Given the description of an element on the screen output the (x, y) to click on. 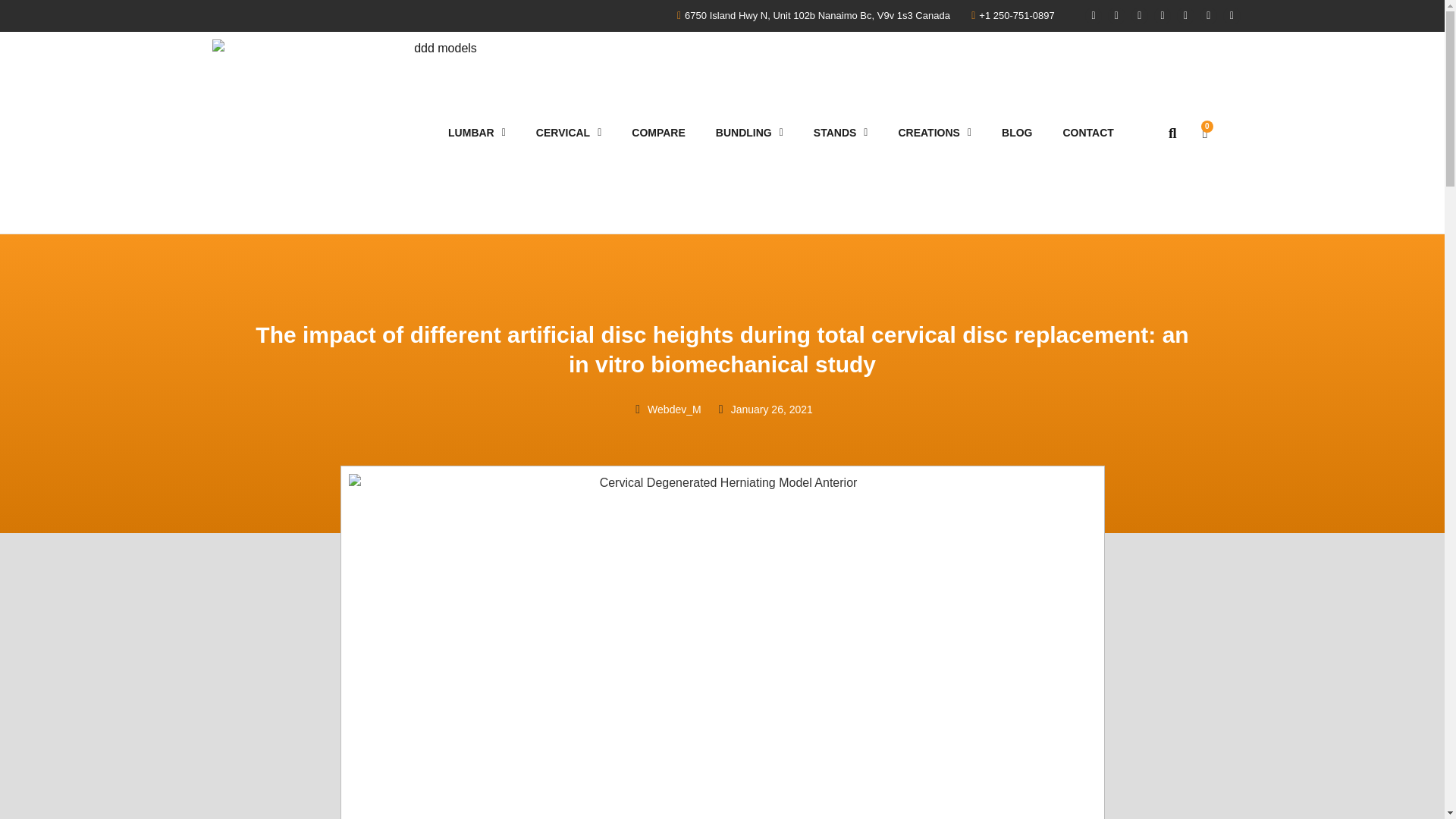
LUMBAR (476, 132)
6750 Island Hwy N, Unit 102b Nanaimo Bc, V9v 1s3 Canada (809, 15)
Anatomical Features (657, 132)
